Given the description of an element on the screen output the (x, y) to click on. 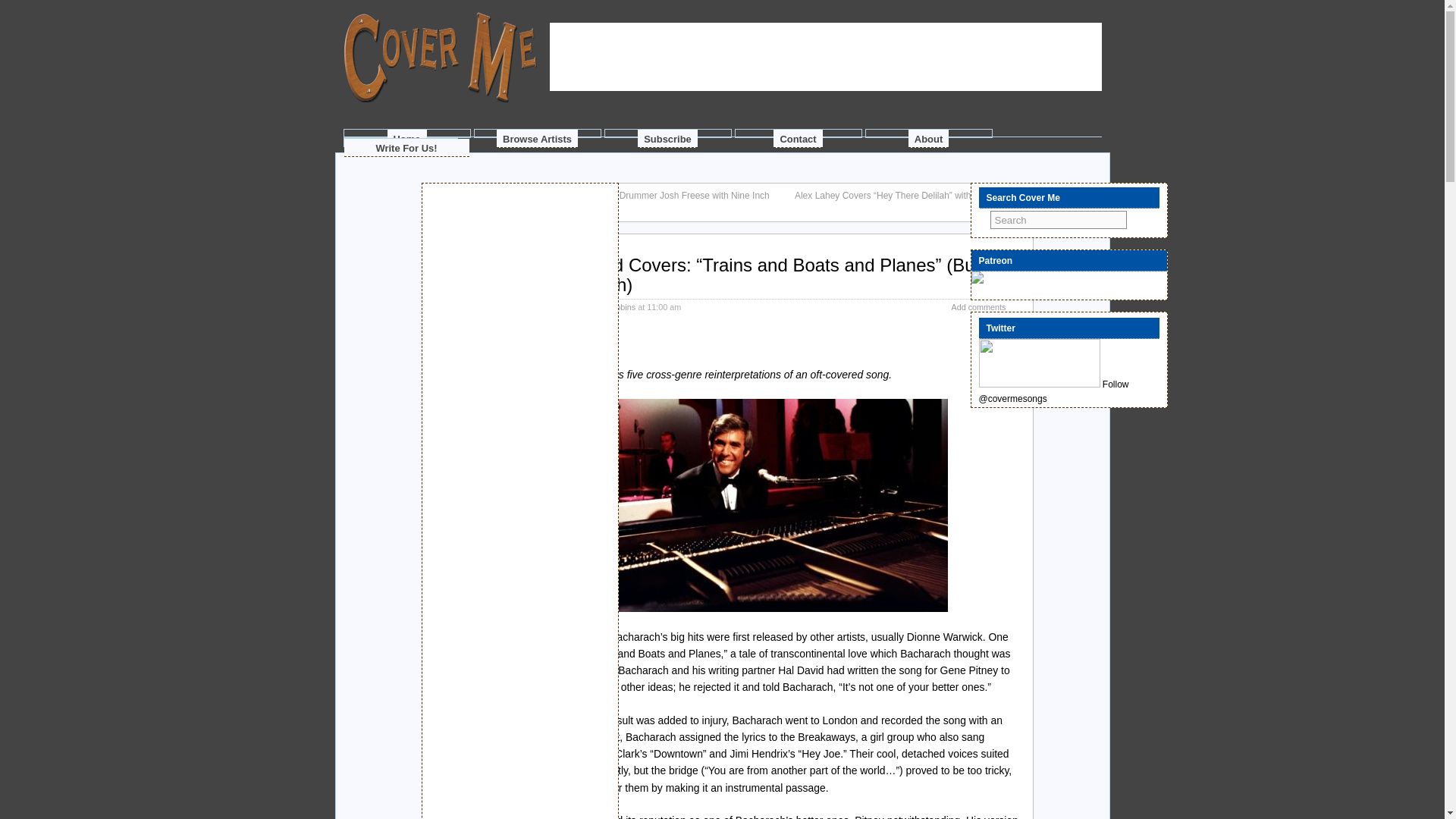
Write For Us! (405, 147)
Five Good Covers (538, 374)
Home (406, 138)
Contact (797, 138)
Patrick Robbins (607, 307)
Search (1058, 219)
About (928, 138)
Browse Artists (537, 138)
Subscribe (667, 138)
Add comments (978, 307)
Search (1058, 219)
